Given the description of an element on the screen output the (x, y) to click on. 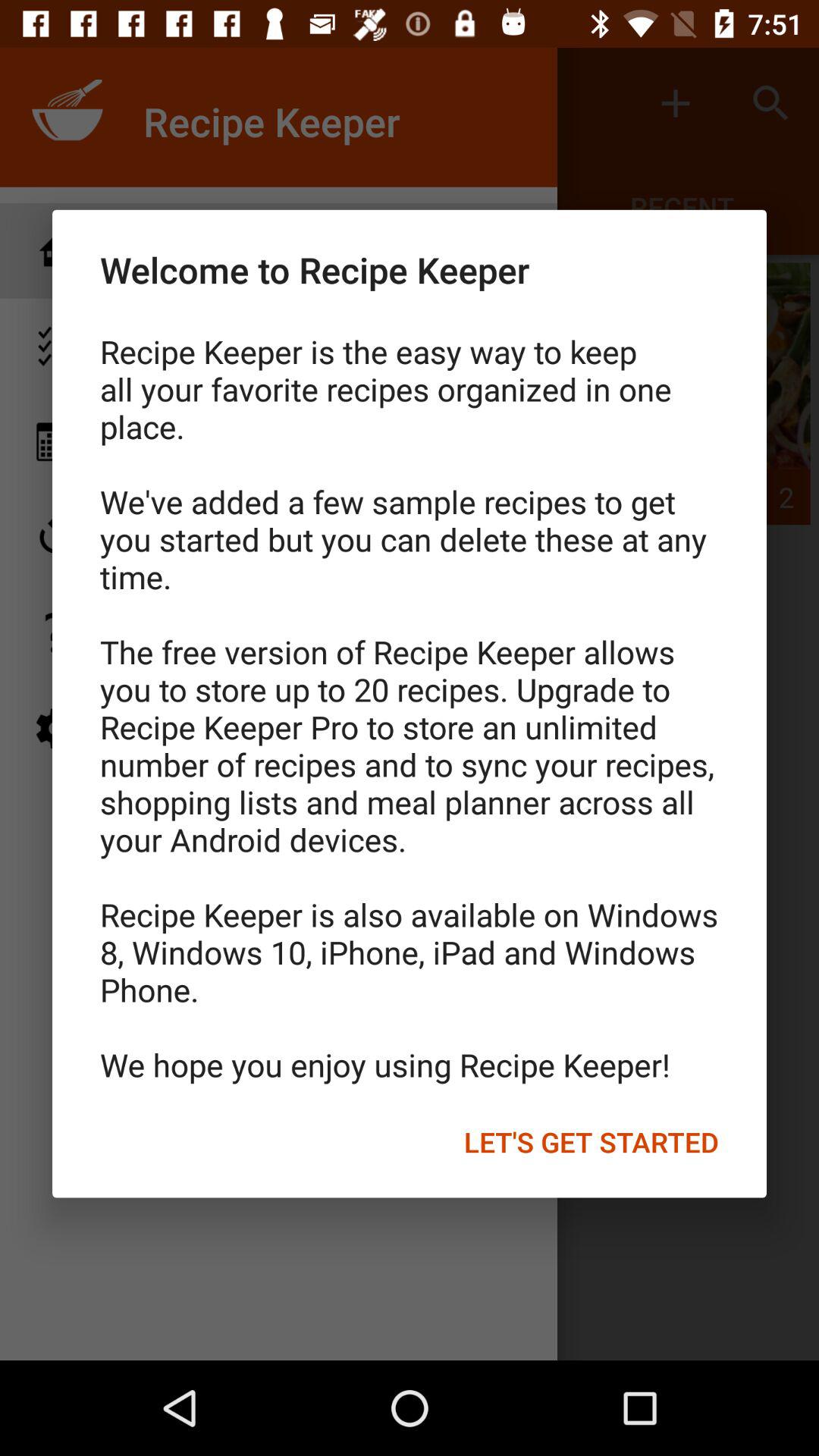
press the item at the bottom right corner (591, 1141)
